Given the description of an element on the screen output the (x, y) to click on. 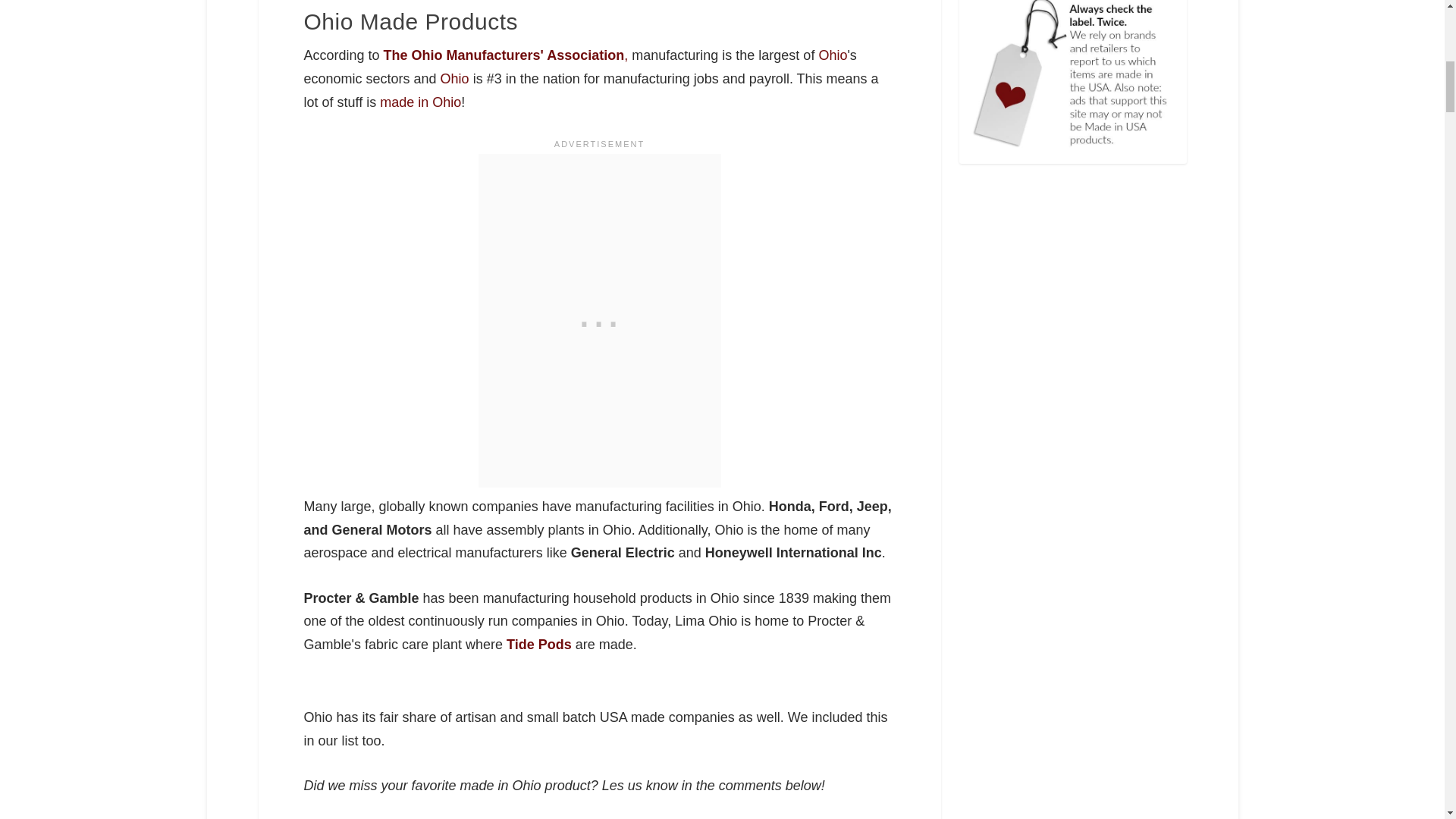
The Ohio Manufacturers' Association, (506, 55)
Ohio (454, 78)
Ohio (832, 55)
Tide Pods (539, 644)
made in Ohio (420, 102)
